Given the description of an element on the screen output the (x, y) to click on. 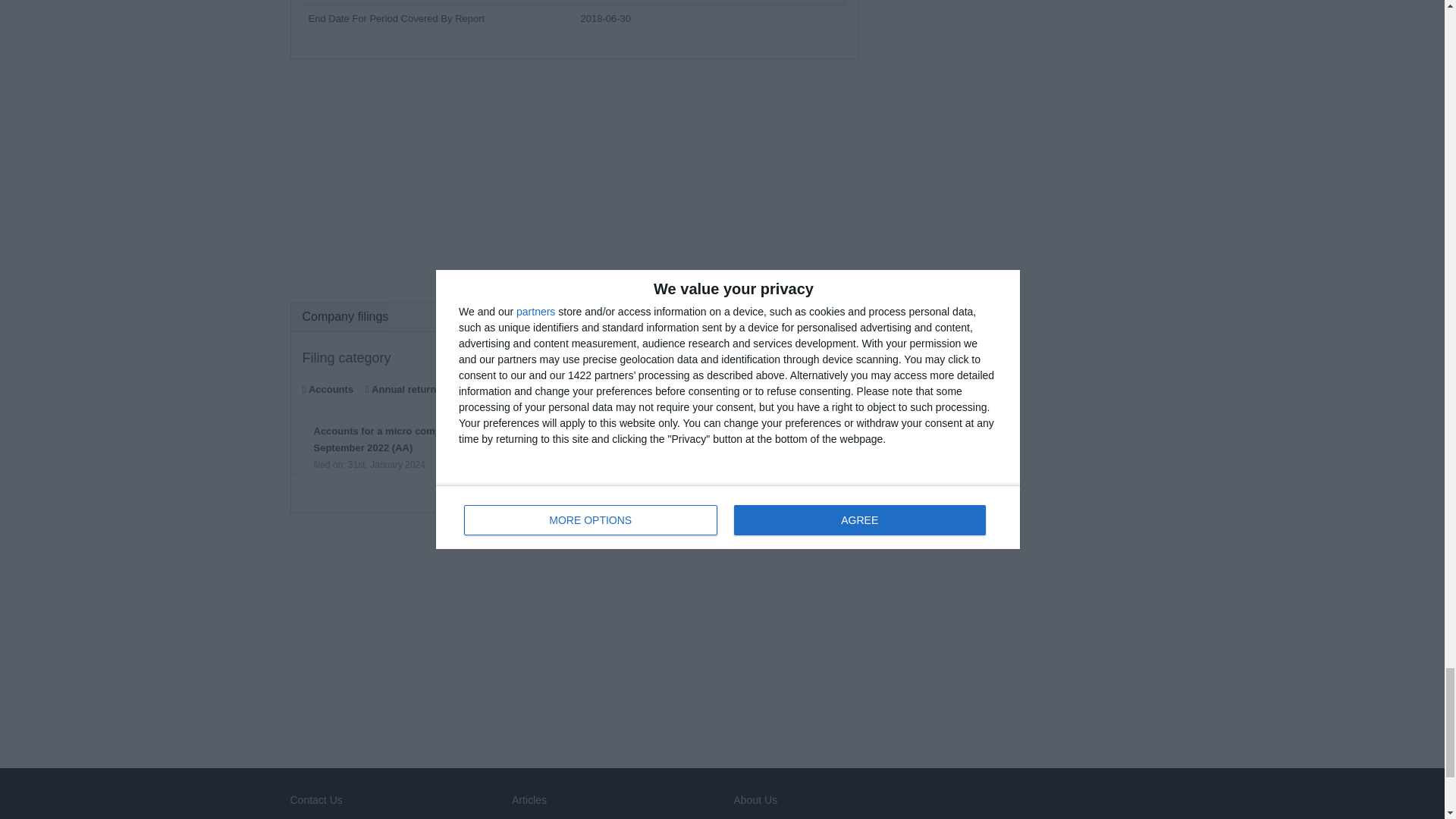
Show more filings (573, 489)
